Given the description of an element on the screen output the (x, y) to click on. 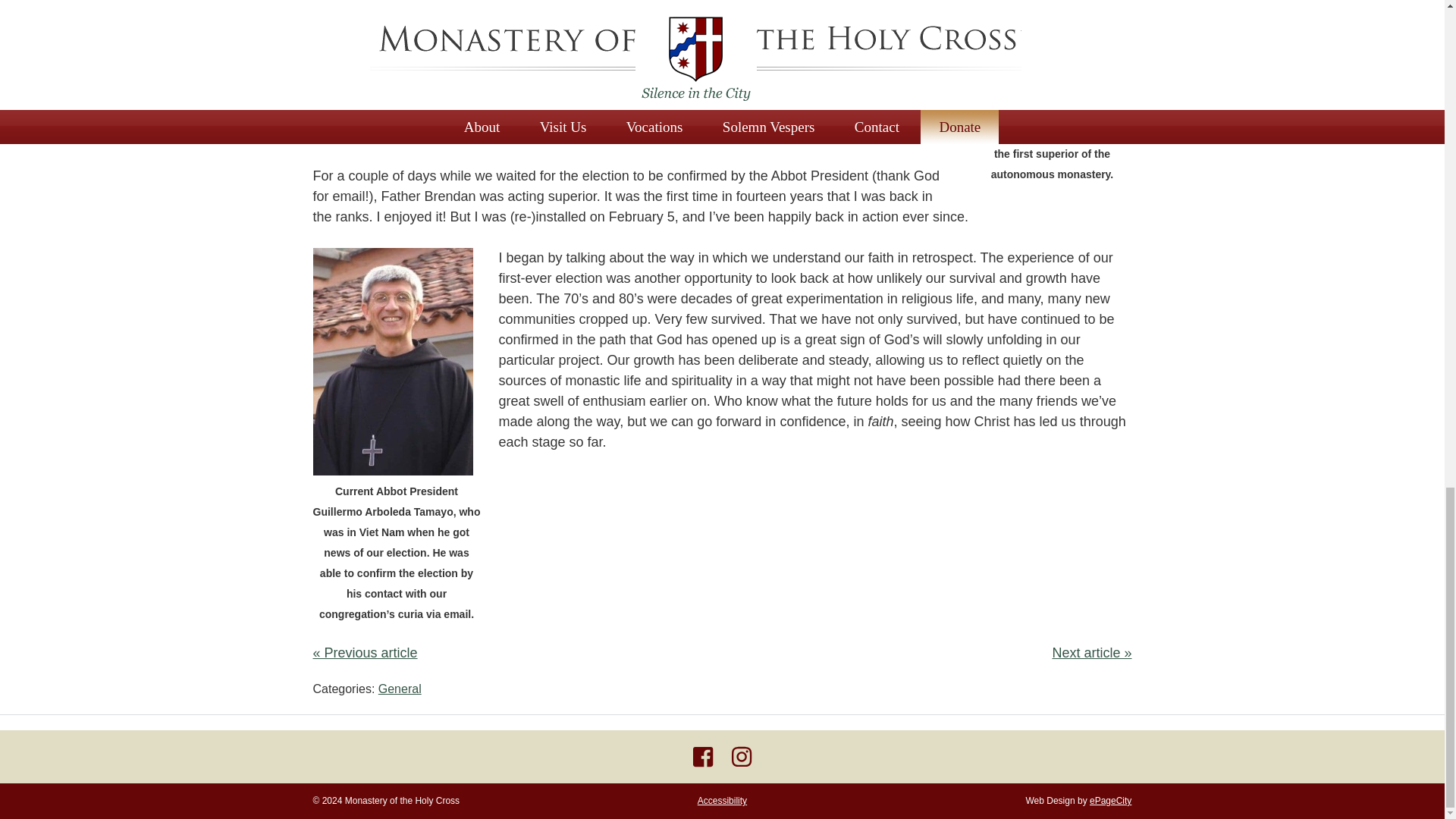
General (400, 688)
ePageCity (1110, 800)
Accessibility (721, 800)
